Given the description of an element on the screen output the (x, y) to click on. 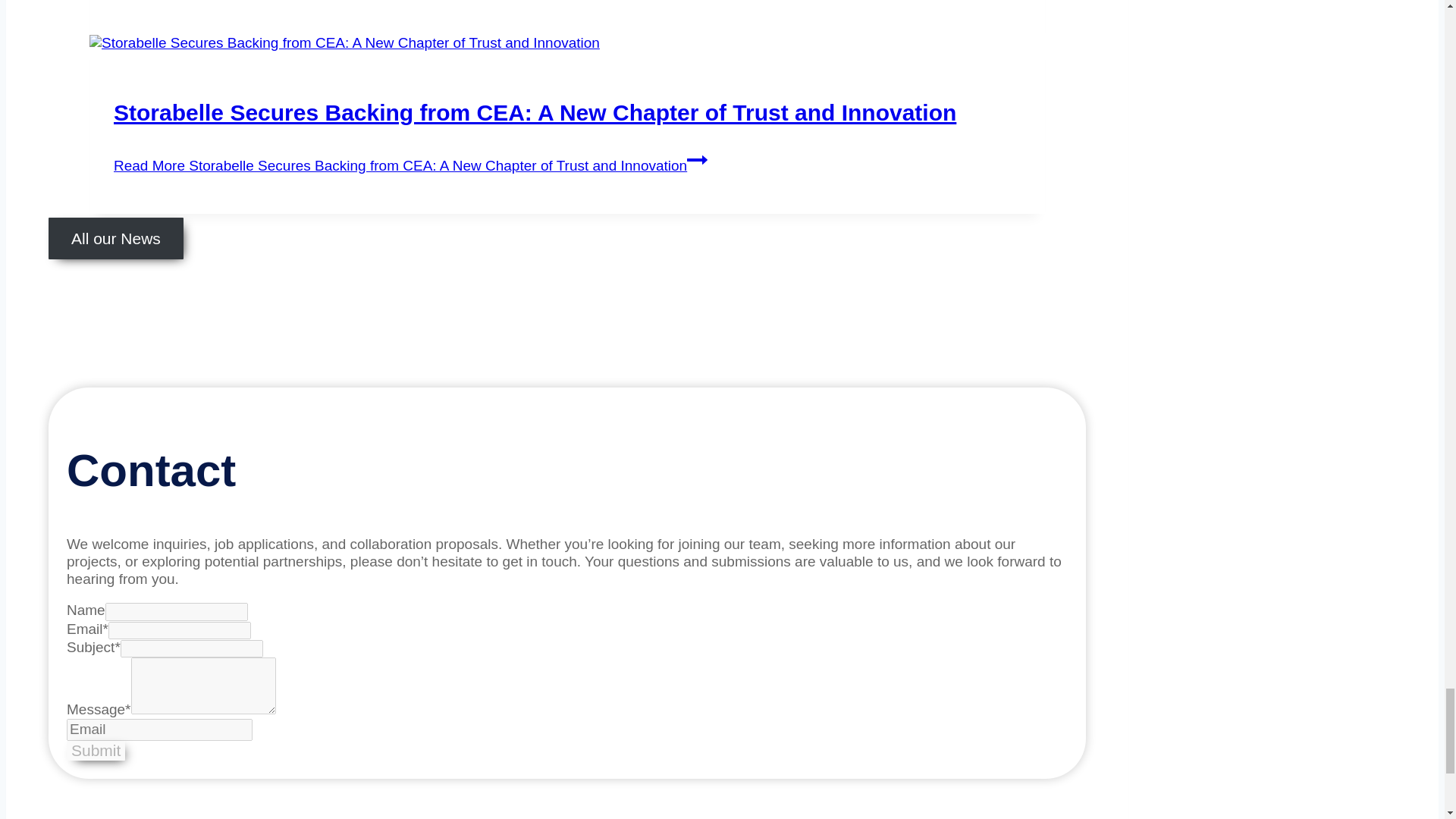
Continue (697, 159)
Submit (95, 750)
All our News (115, 238)
